Given the description of an element on the screen output the (x, y) to click on. 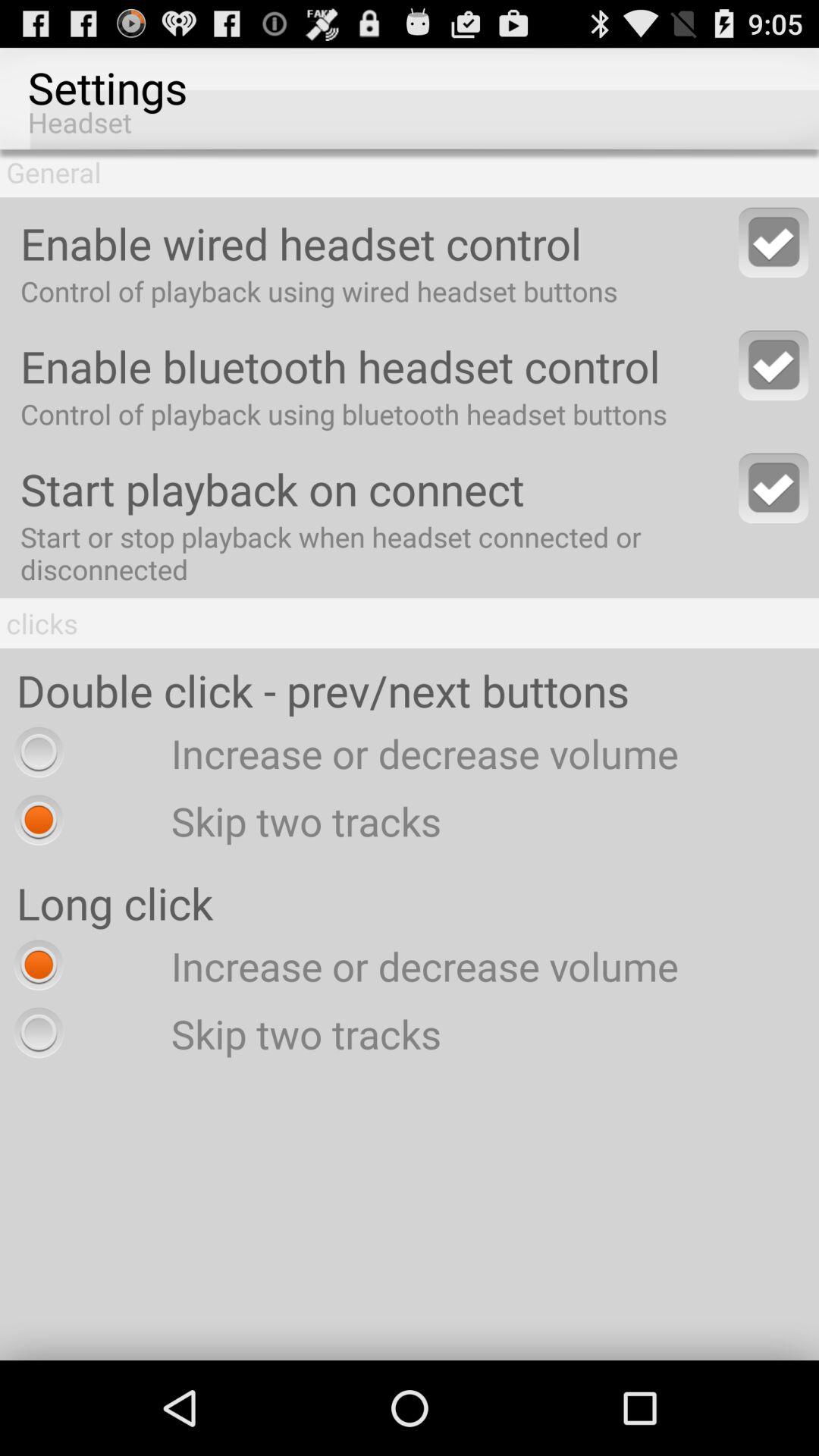
toggle bluetooth headset control (773, 365)
